Given the description of an element on the screen output the (x, y) to click on. 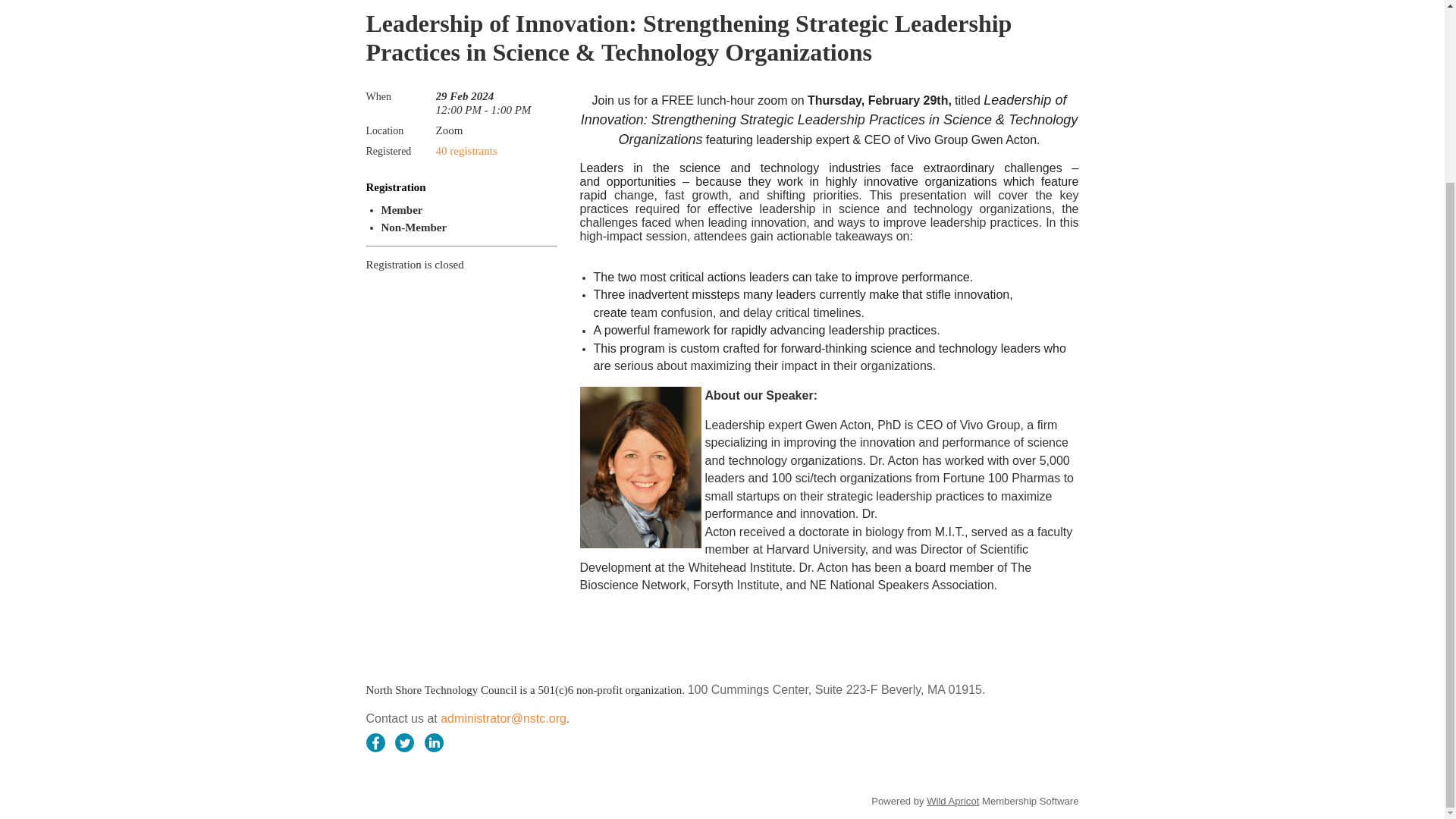
Wild Apricot (952, 800)
40 registrants (465, 150)
